Given the description of an element on the screen output the (x, y) to click on. 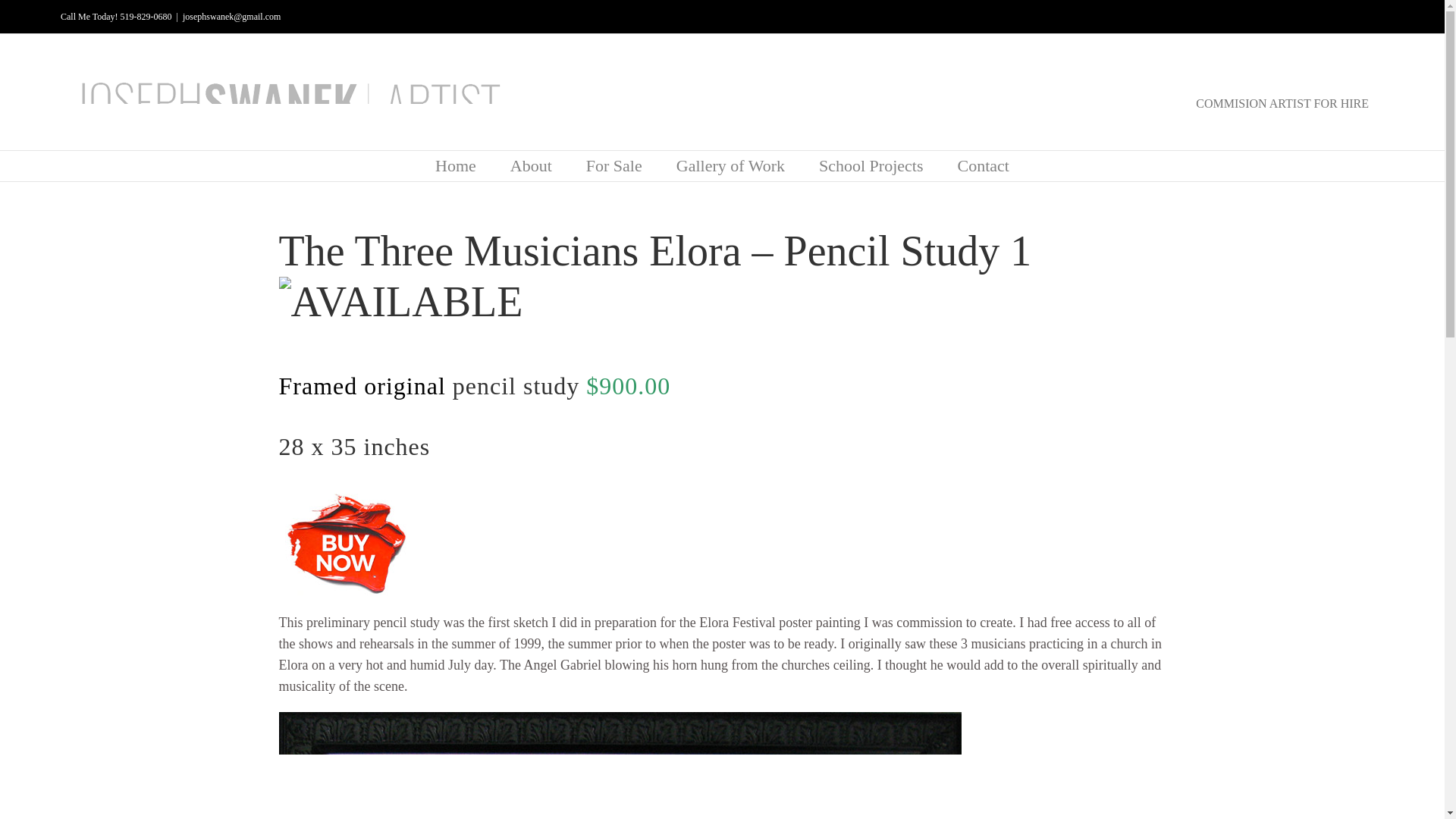
Gallery of Work (730, 165)
Home (455, 165)
About (531, 165)
For Sale (614, 165)
School Projects (870, 165)
Contact (982, 165)
